Given the description of an element on the screen output the (x, y) to click on. 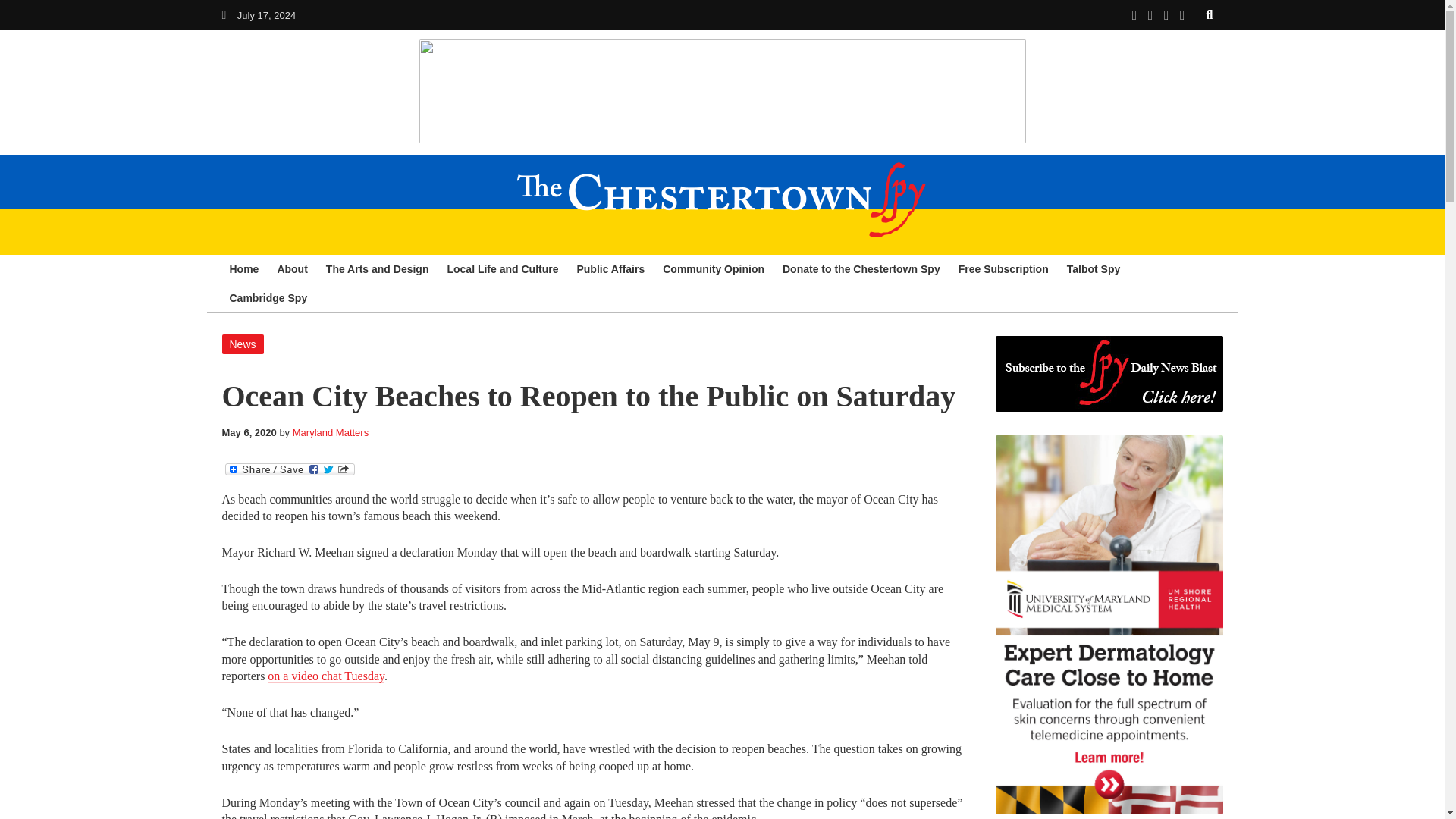
Search (1209, 14)
Search (1209, 14)
Search (1209, 14)
Back to Chestertown Spy Homepage (223, 14)
